Given the description of an element on the screen output the (x, y) to click on. 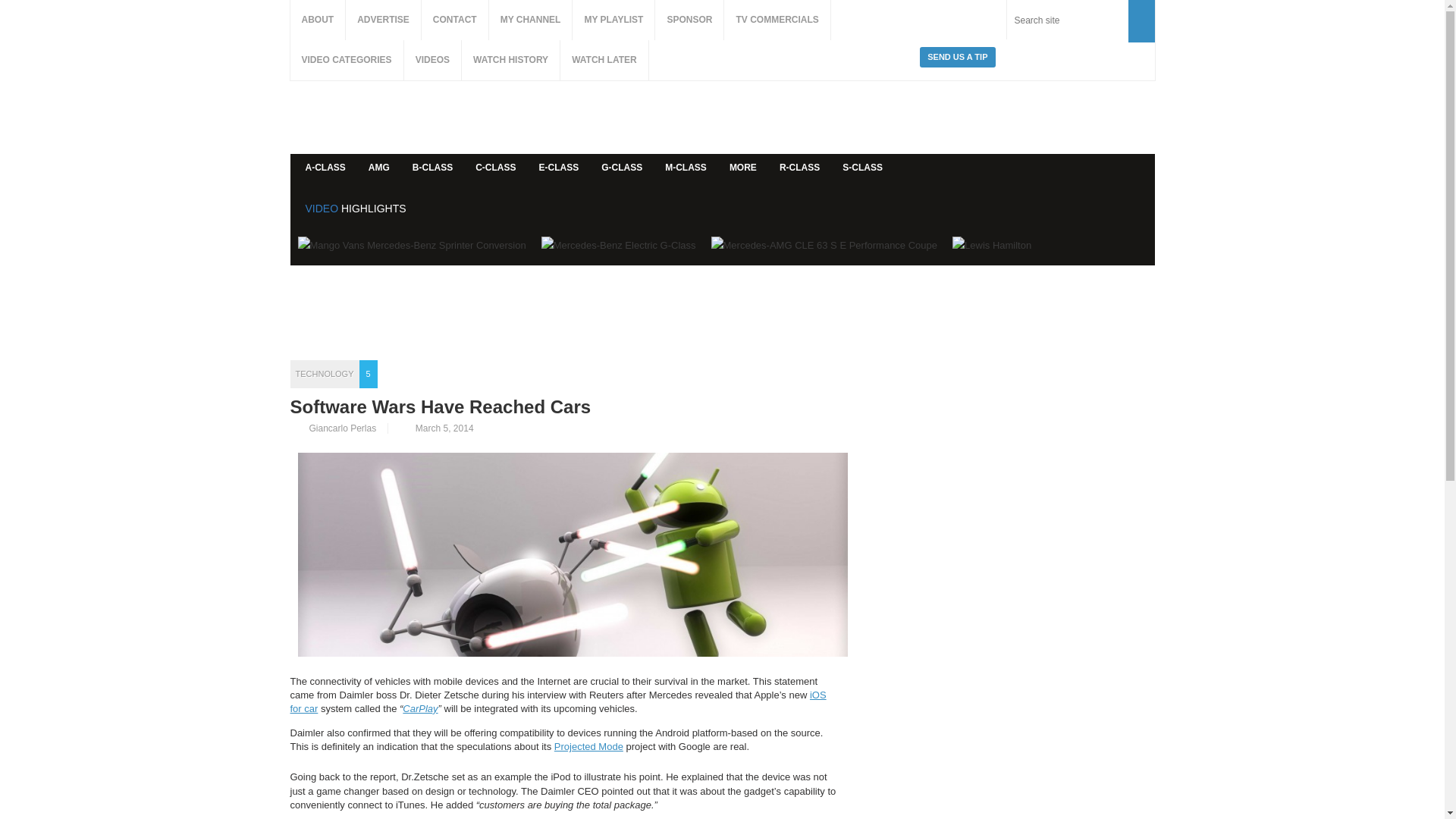
SPONSOR (689, 20)
4:33 am (435, 428)
VIDEOS (432, 60)
Facebook (936, 19)
MY CHANNEL (530, 20)
Twitter (969, 19)
AMG (378, 167)
G-CLASS (621, 167)
WATCH HISTORY (510, 60)
Log in (1135, 172)
MY PLAYLIST (612, 20)
ABOUT (317, 20)
MORE (742, 167)
B-CLASS (432, 167)
TV COMMERCIALS (776, 20)
